Given the description of an element on the screen output the (x, y) to click on. 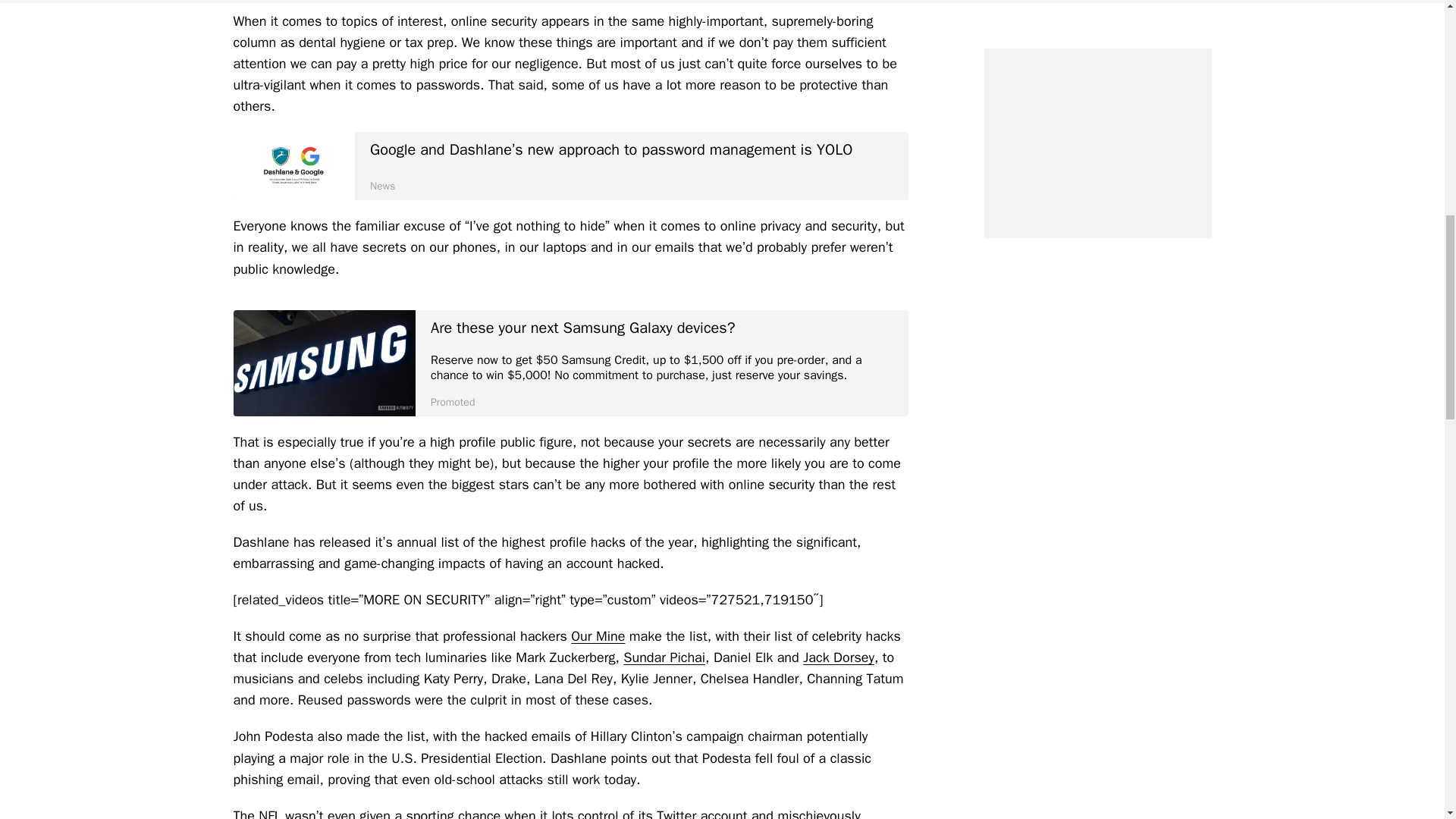
Jack Dorsey (839, 657)
Sundar Pichai (663, 657)
Our Mine (597, 636)
